Given the description of an element on the screen output the (x, y) to click on. 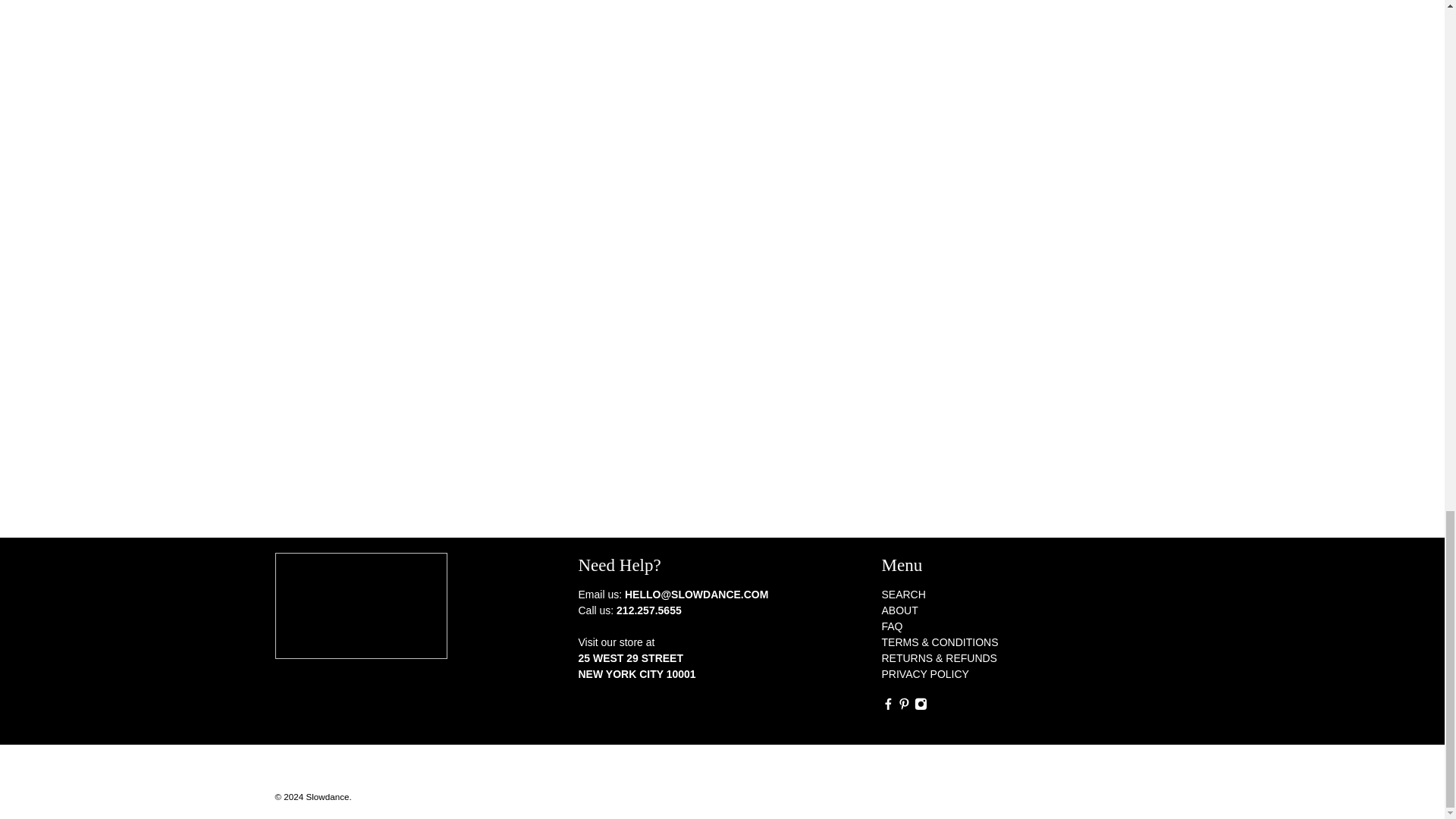
Slowdance (360, 613)
Slowdance on Instagram (920, 705)
Slowdance on Facebook (886, 705)
Slowdance on Pinterest (904, 705)
